Given the description of an element on the screen output the (x, y) to click on. 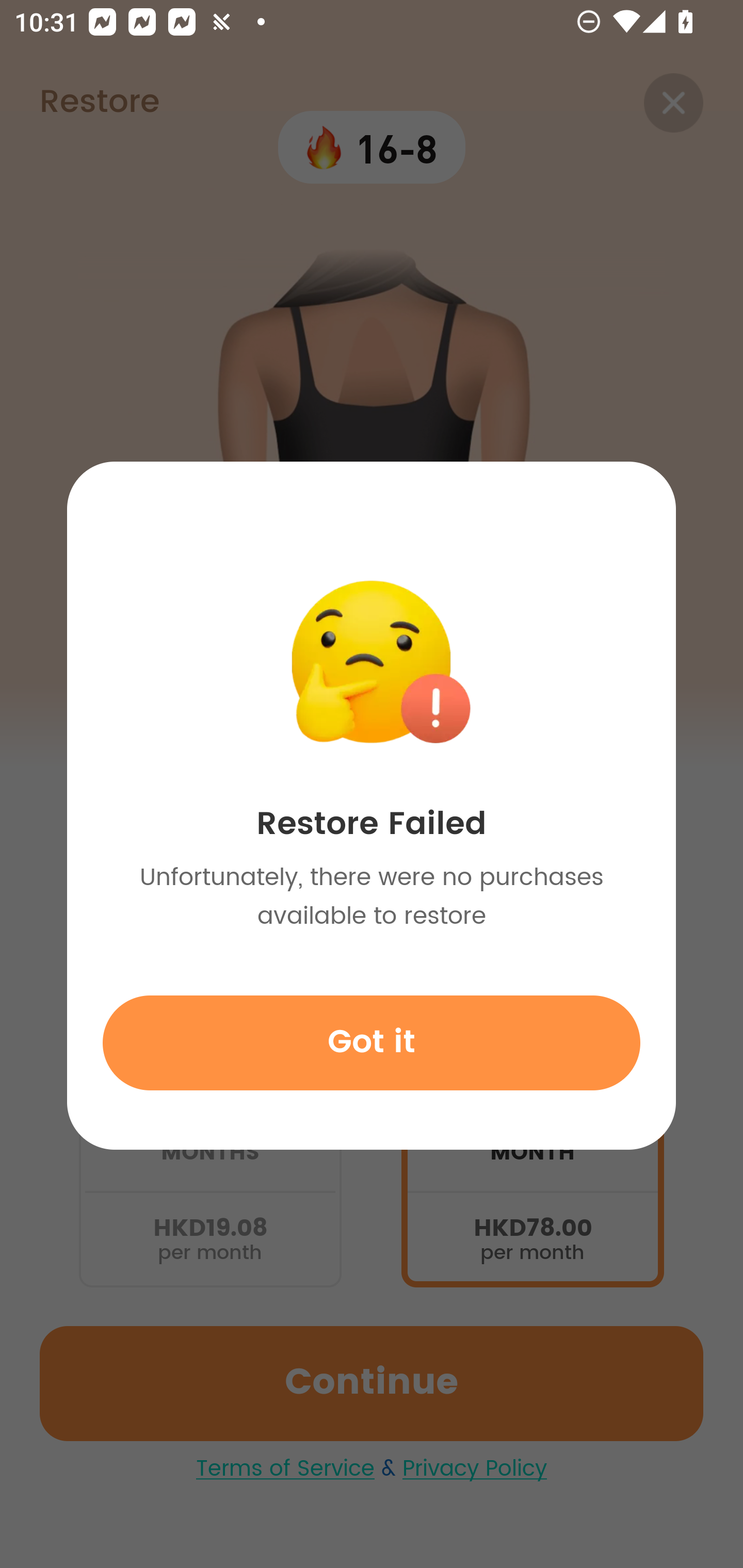
Got it (371, 1042)
